Given the description of an element on the screen output the (x, y) to click on. 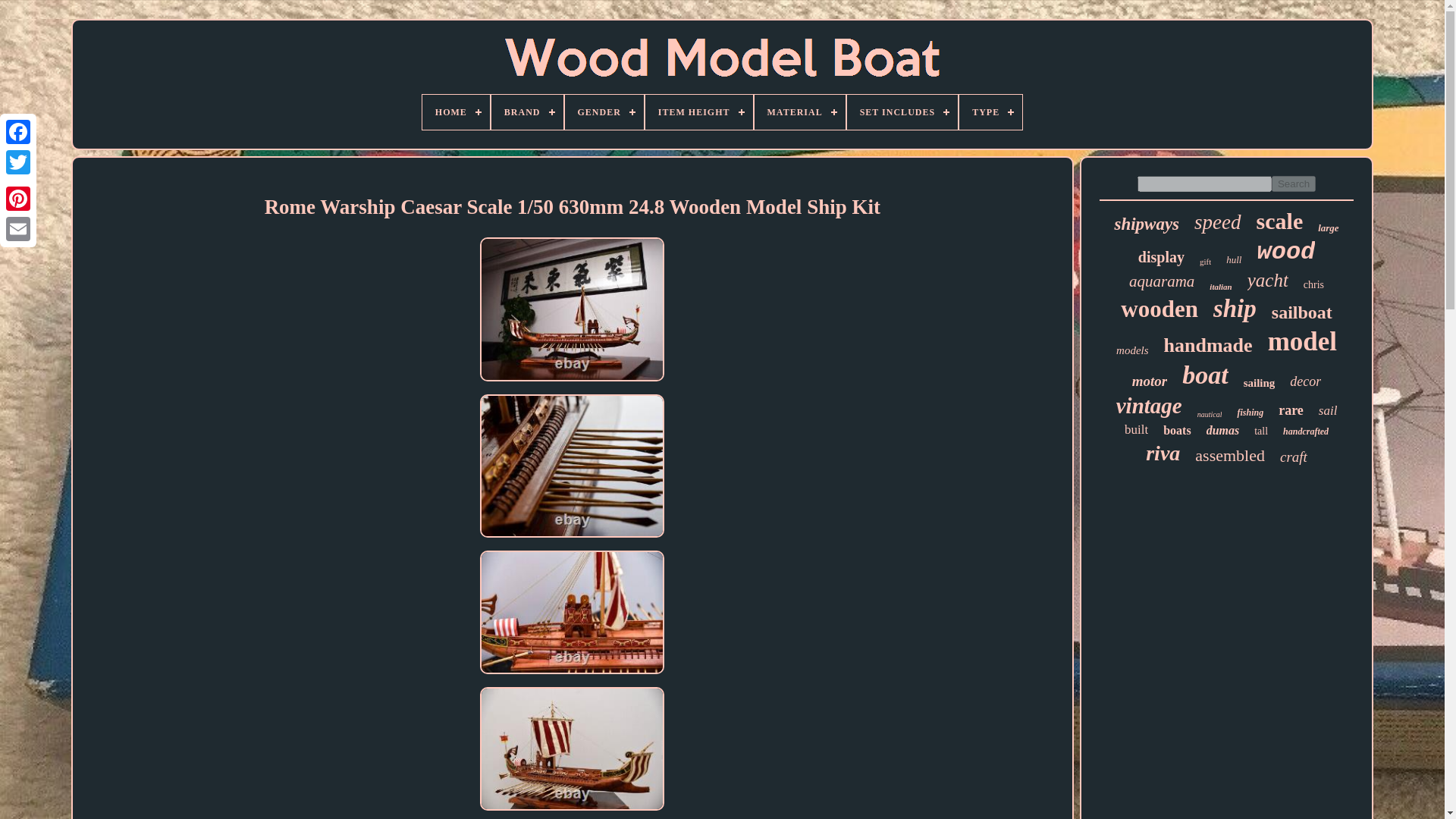
GENDER (603, 112)
Search (1293, 183)
ITEM HEIGHT (698, 112)
BRAND (527, 112)
HOME (455, 112)
